Given the description of an element on the screen output the (x, y) to click on. 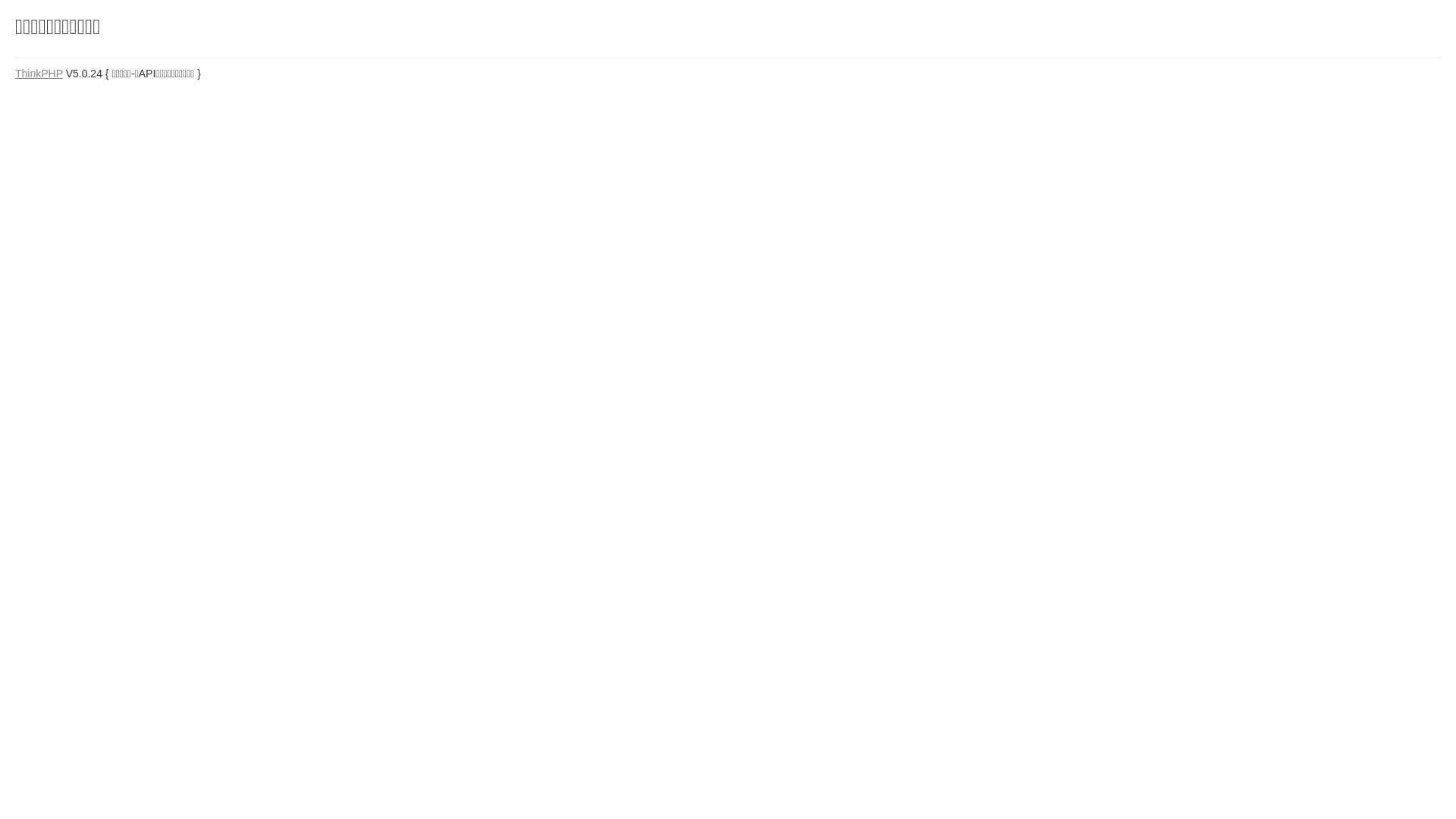
ThinkPHP Element type: text (38, 73)
